Given the description of an element on the screen output the (x, y) to click on. 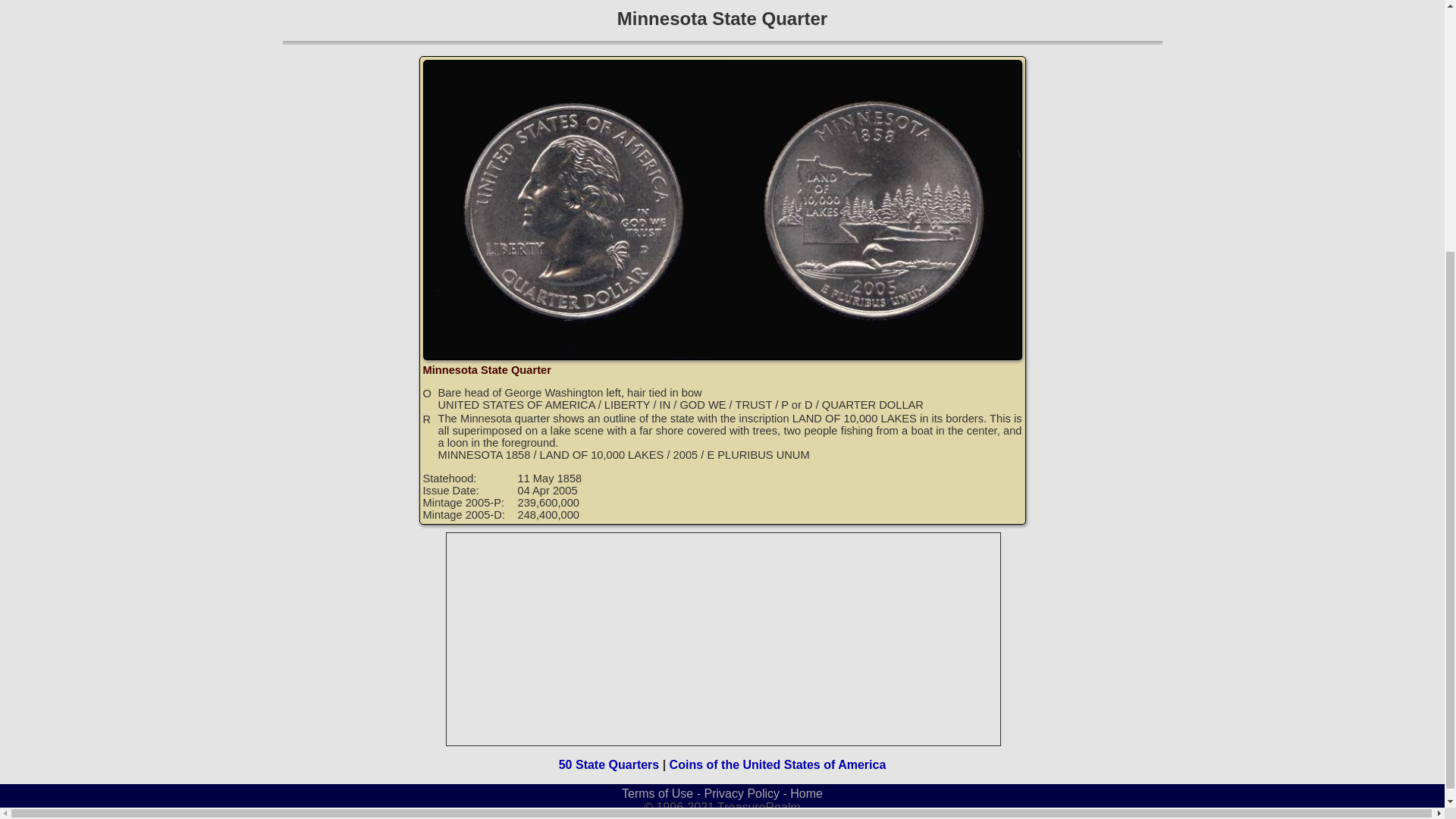
Privacy Policy (740, 793)
50 State Quarters (609, 764)
Coins of the United States of America (777, 764)
Terms of Use (657, 793)
Home (806, 793)
